Given the description of an element on the screen output the (x, y) to click on. 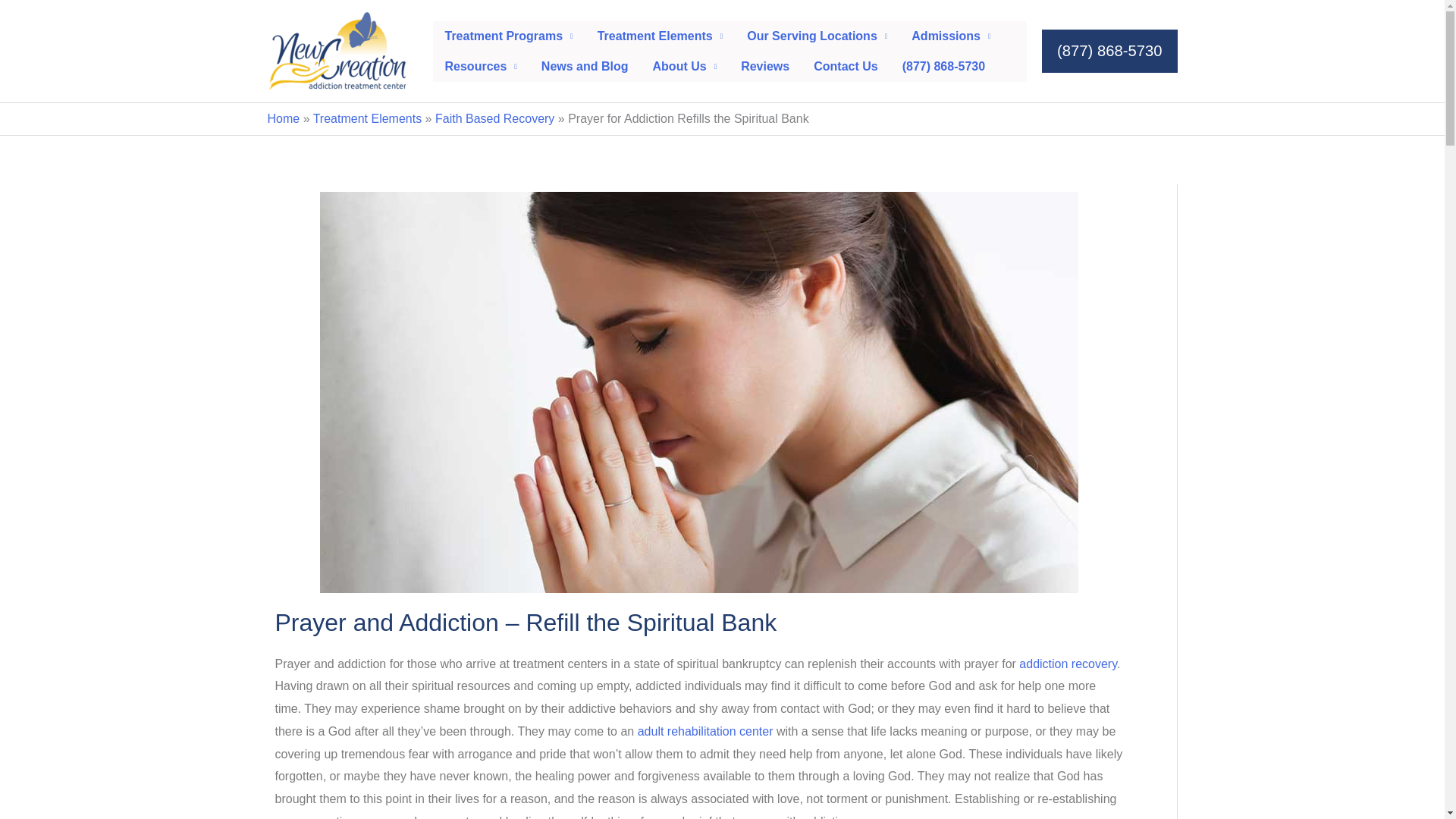
Treatment Elements (660, 36)
Treatment Programs (508, 36)
